Given the description of an element on the screen output the (x, y) to click on. 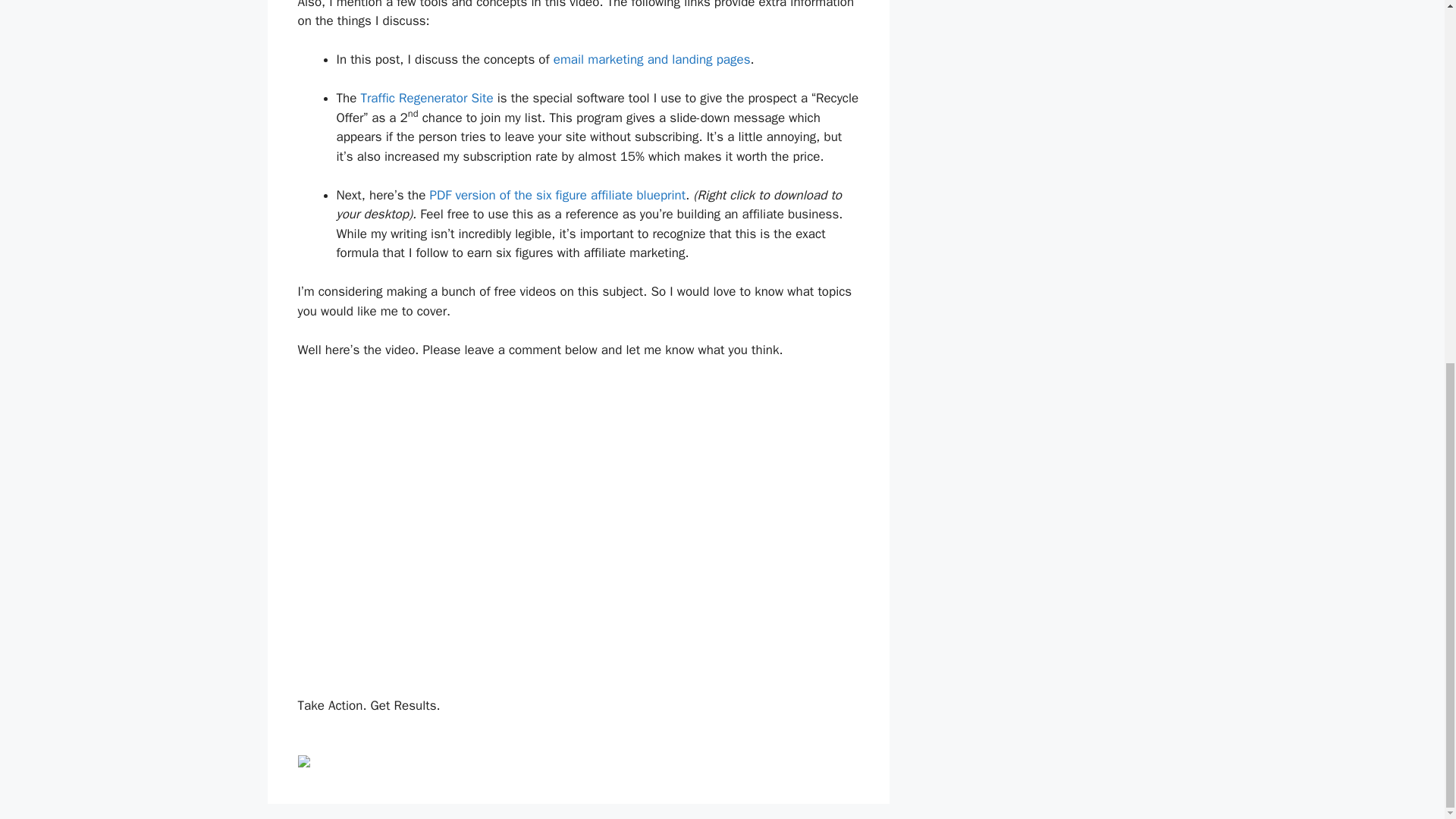
PDF version of the six figure affiliate blueprint (557, 195)
email marketing and landing pages (652, 59)
Traffic Regenerator Site (426, 98)
